Given the description of an element on the screen output the (x, y) to click on. 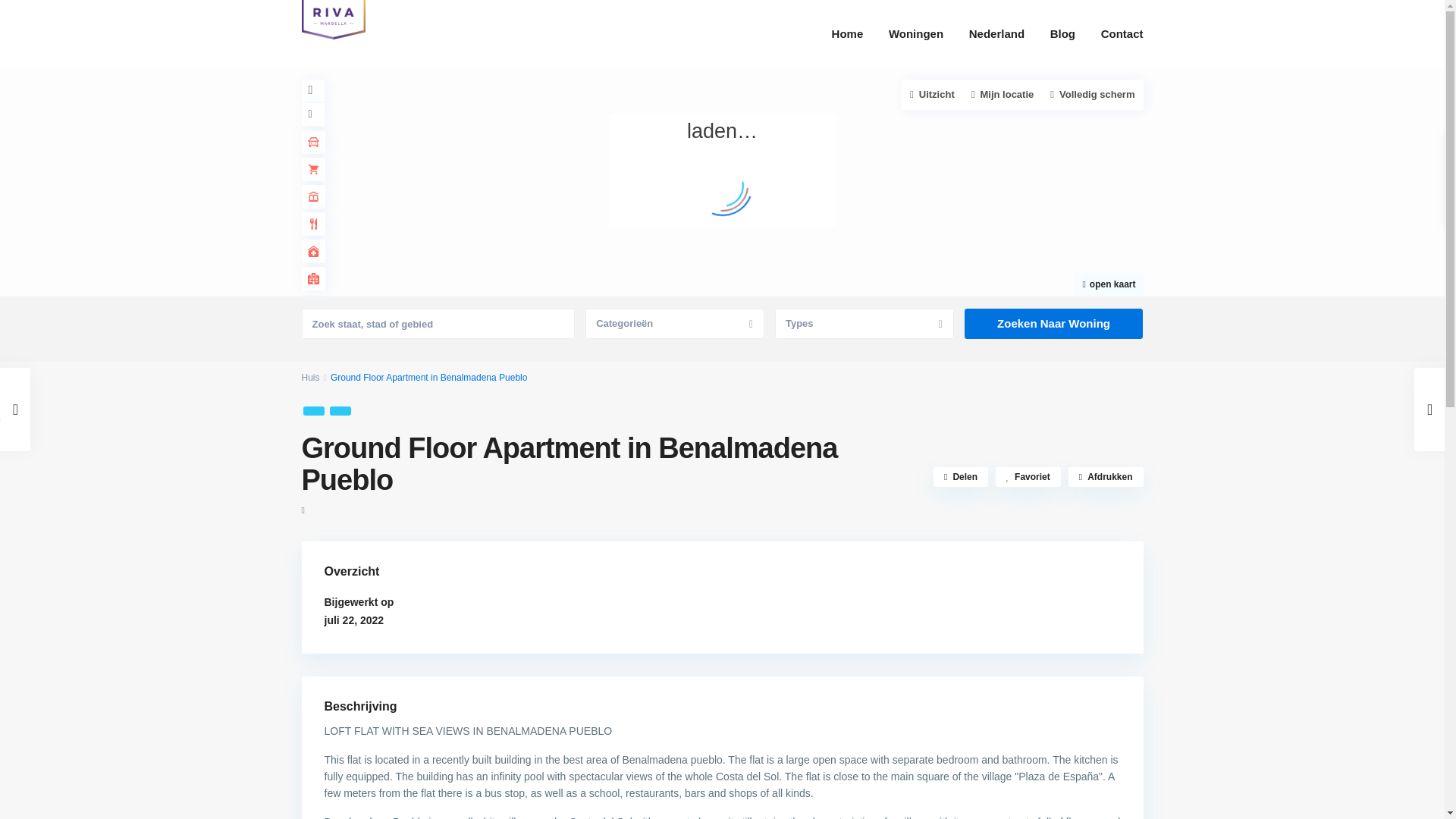
Woningen (916, 33)
Huis (310, 377)
Zoeken naar woning (1052, 323)
Nederland (996, 33)
Contact (1121, 33)
Zoeken naar woning (1052, 323)
